Given the description of an element on the screen output the (x, y) to click on. 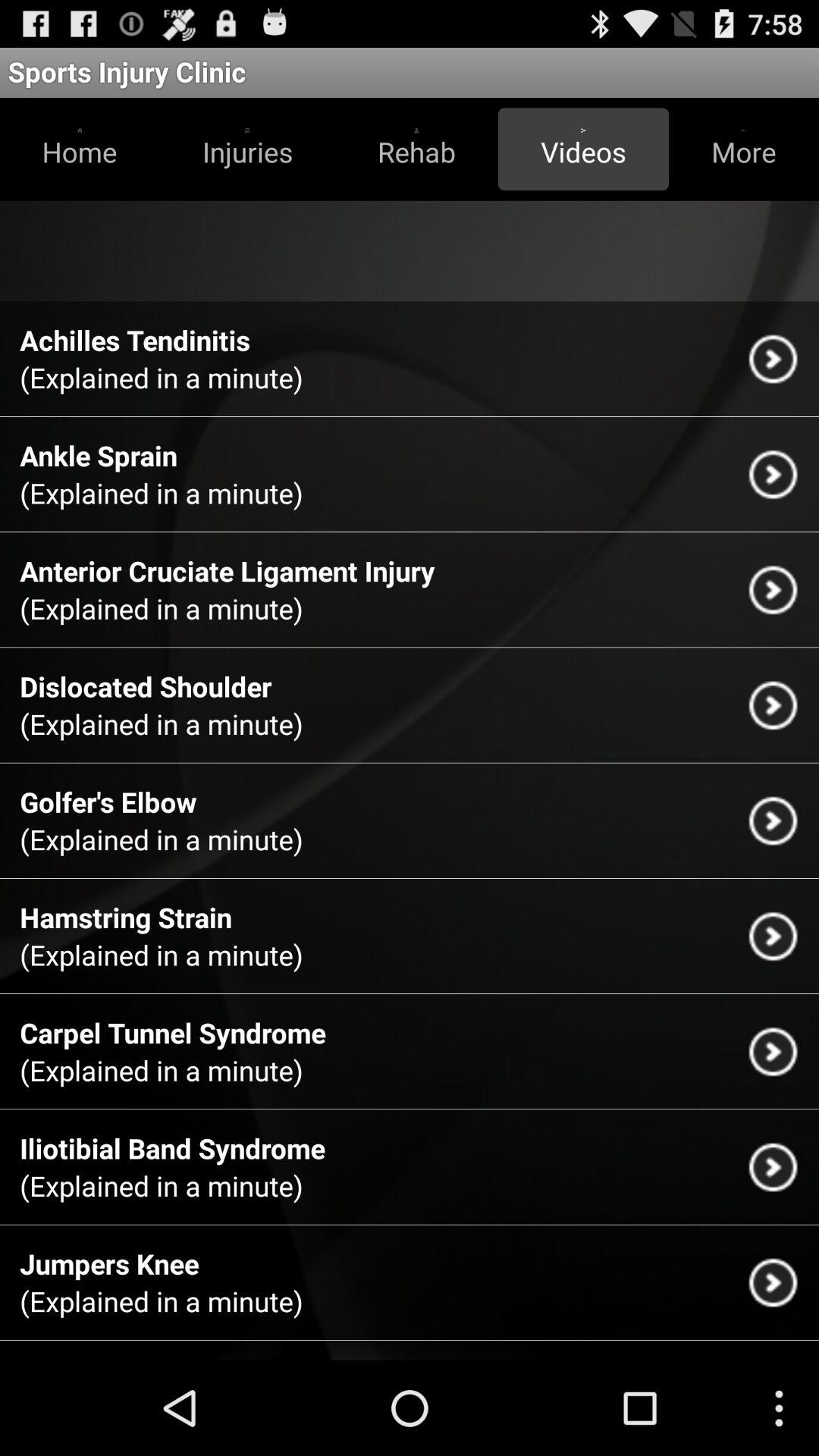
turn off achilles tendinitis app (134, 339)
